Given the description of an element on the screen output the (x, y) to click on. 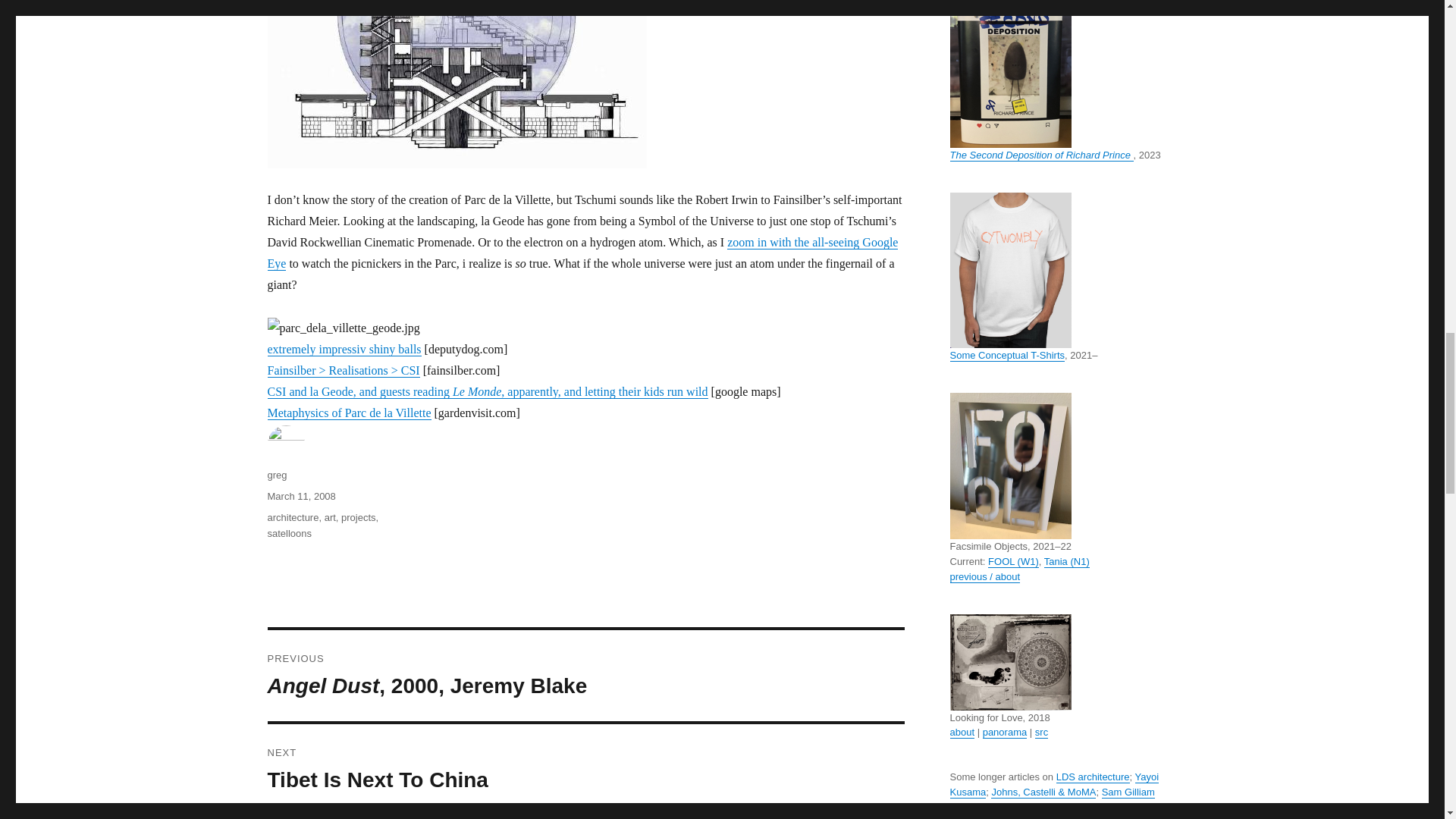
projects (357, 517)
March 11, 2008 (300, 496)
The Second Deposition of Richard Prince (1040, 154)
greg (276, 474)
LDS architecture (1093, 776)
art (330, 517)
about (961, 731)
satelloons (288, 532)
src (1041, 731)
